Given the description of an element on the screen output the (x, y) to click on. 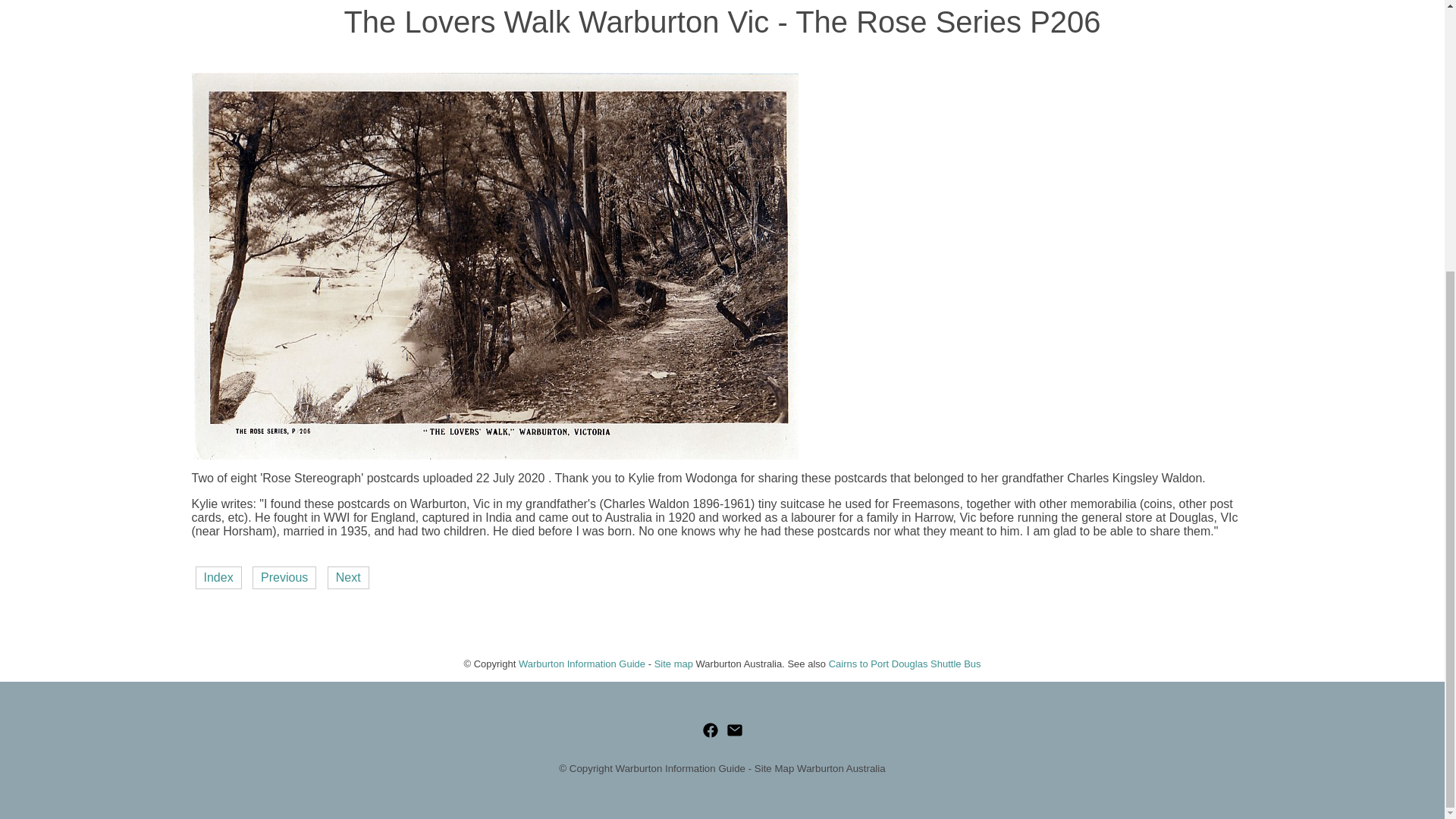
The Lovers Walk Warburton Vic - The Rose Series P206 (493, 454)
Connect with us: Facebook WarburtonInfo (709, 730)
